Given the description of an element on the screen output the (x, y) to click on. 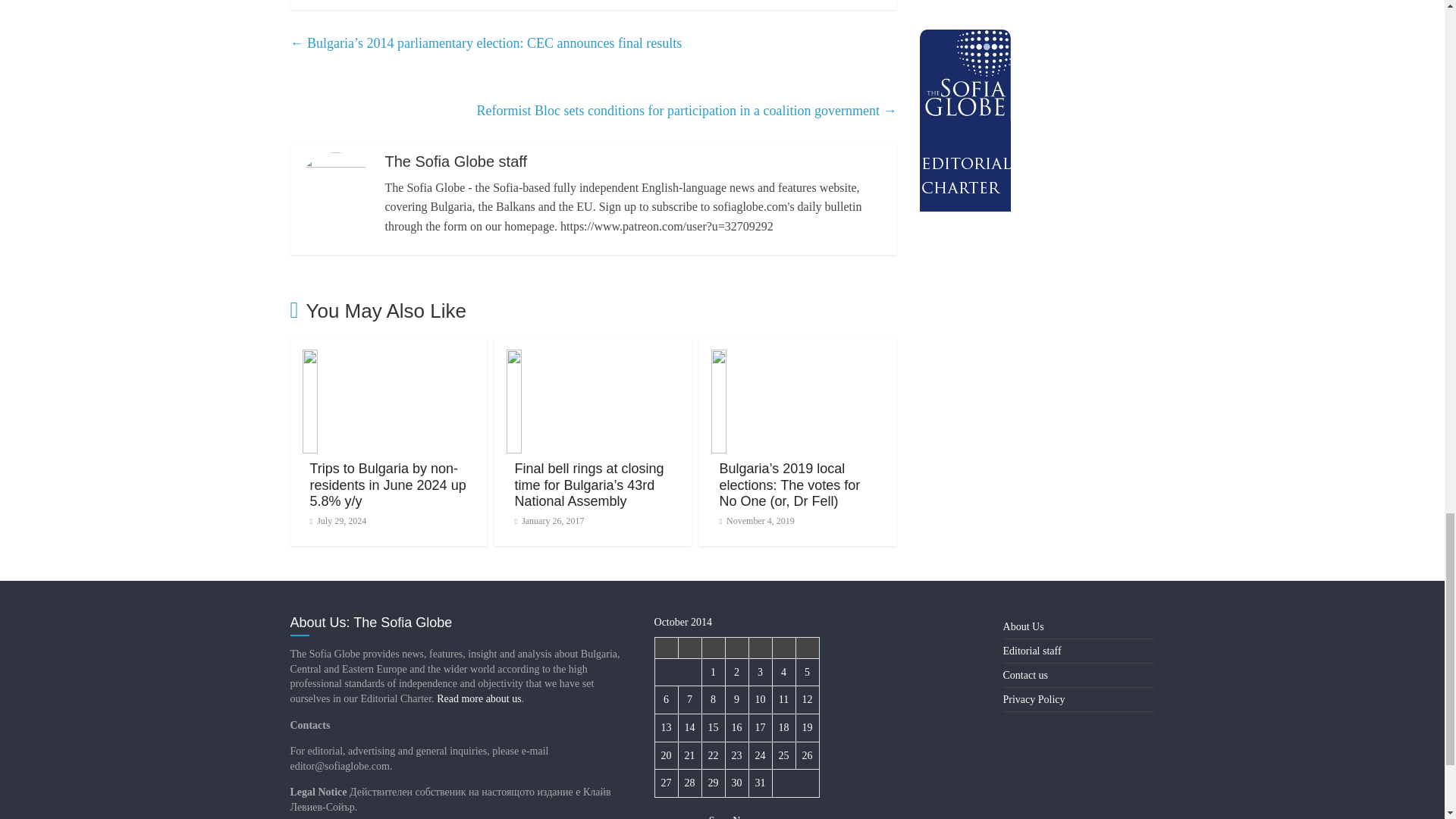
July 29, 2024 (337, 520)
November 4, 2019 (756, 520)
January 26, 2017 (548, 520)
11:18 AM (337, 520)
2:32 PM (548, 520)
